Given the description of an element on the screen output the (x, y) to click on. 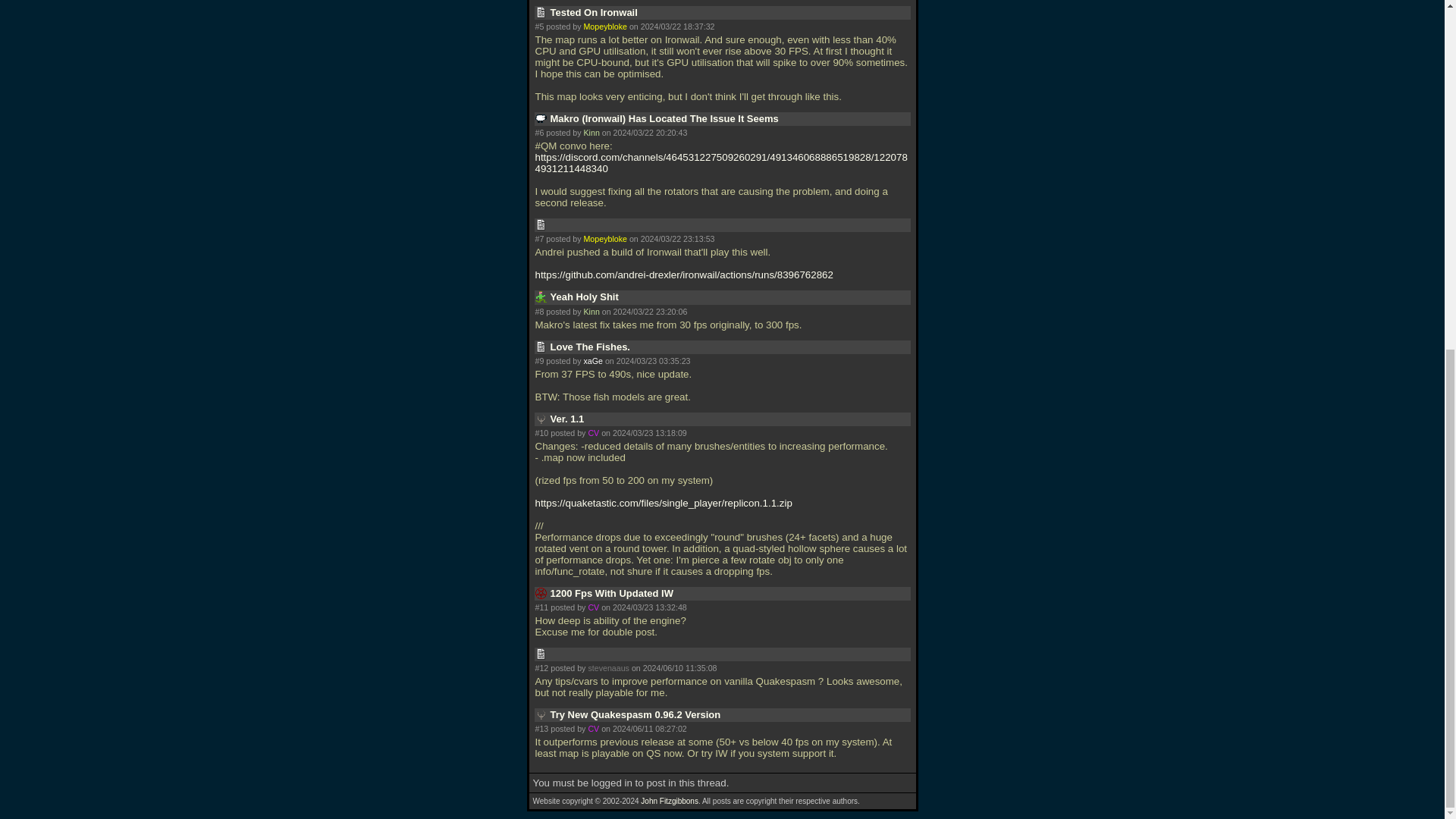
CV (593, 606)
xaGe (592, 360)
Kinn (590, 132)
Mopeybloke (604, 238)
CV (593, 432)
stevenaaus (608, 667)
Mopeybloke (604, 26)
Kinn (590, 310)
